Given the description of an element on the screen output the (x, y) to click on. 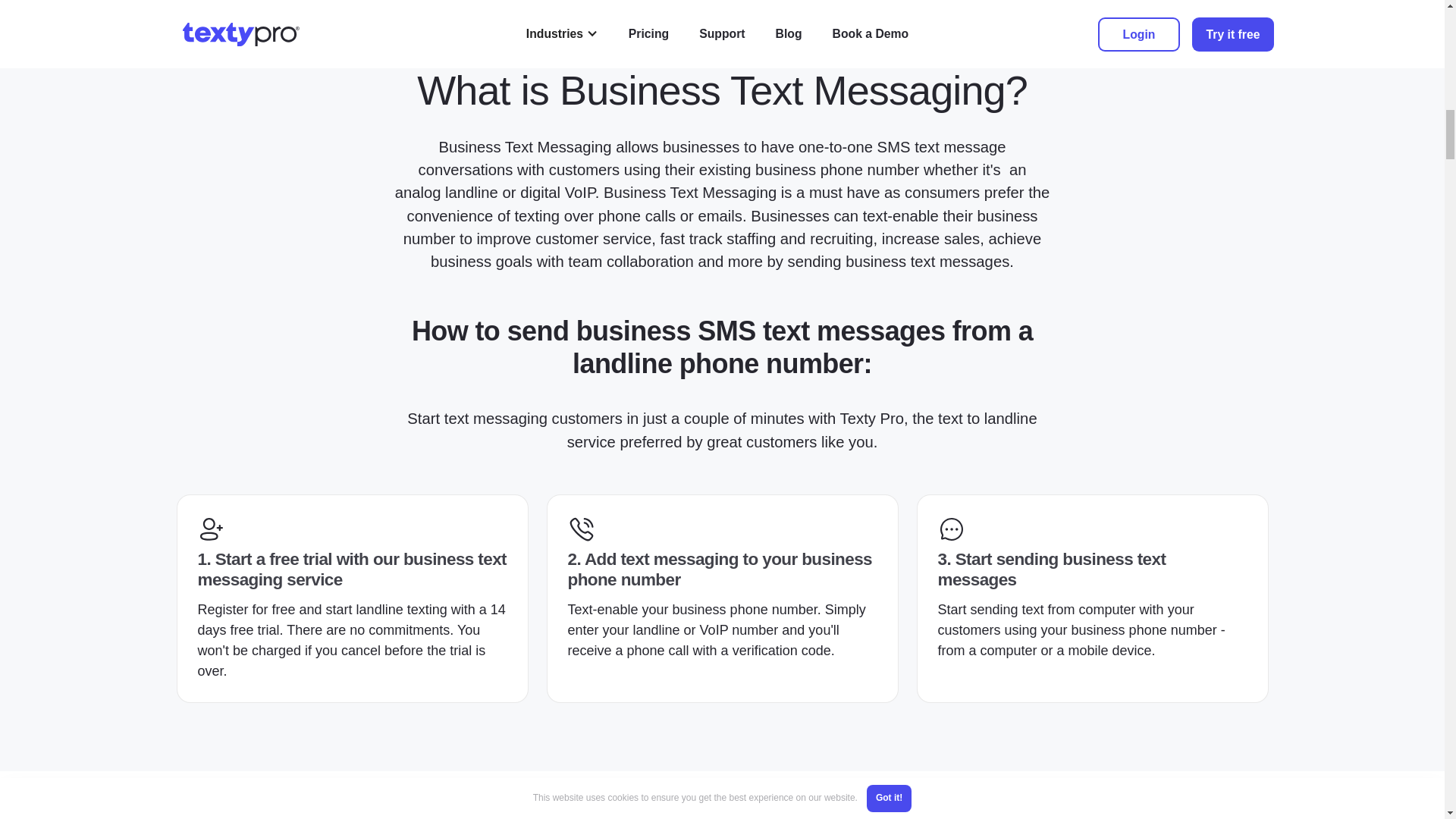
Register for free (245, 609)
